Given the description of an element on the screen output the (x, y) to click on. 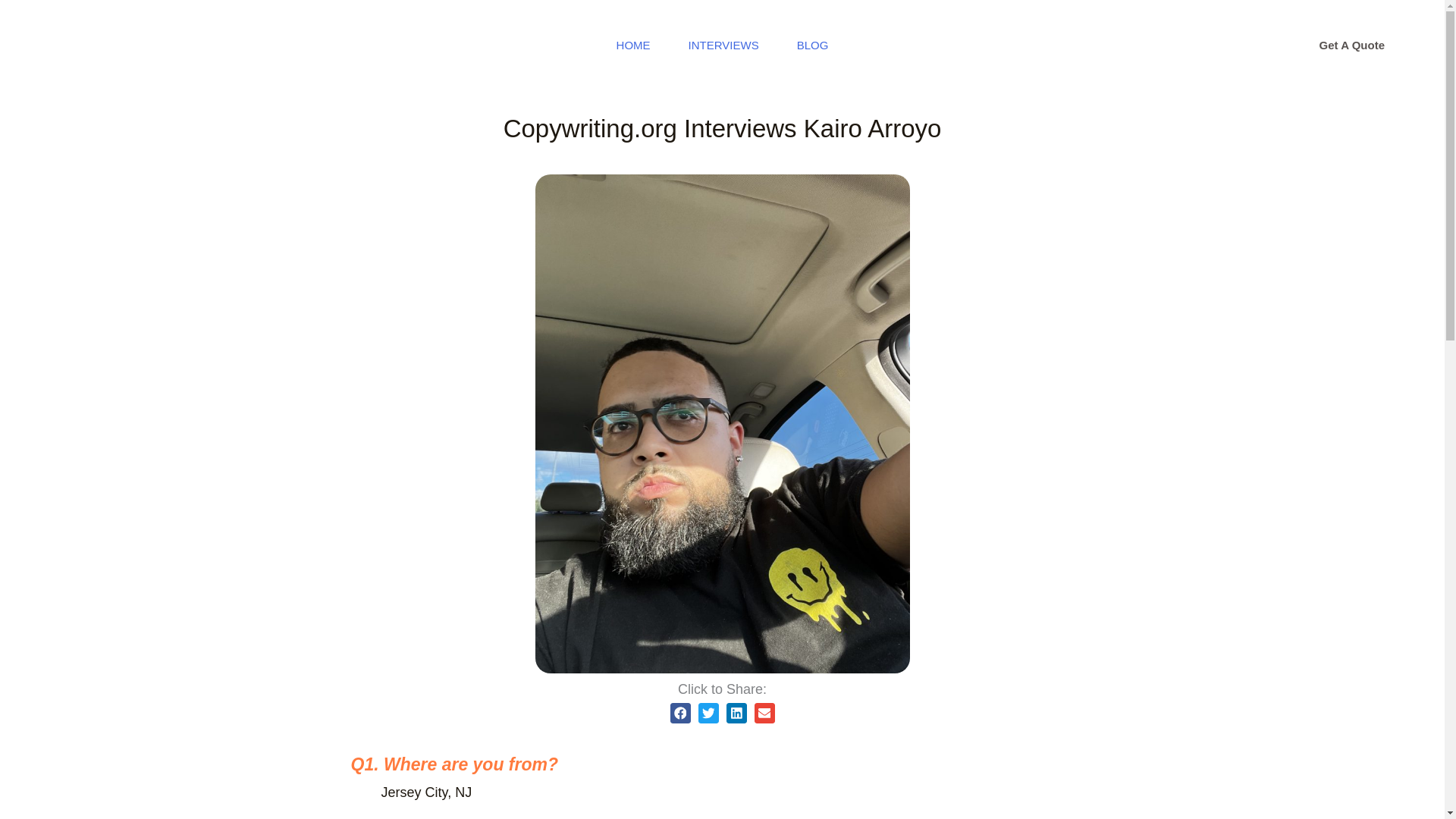
Get A Quote (1352, 45)
INTERVIEWS (723, 45)
